Given the description of an element on the screen output the (x, y) to click on. 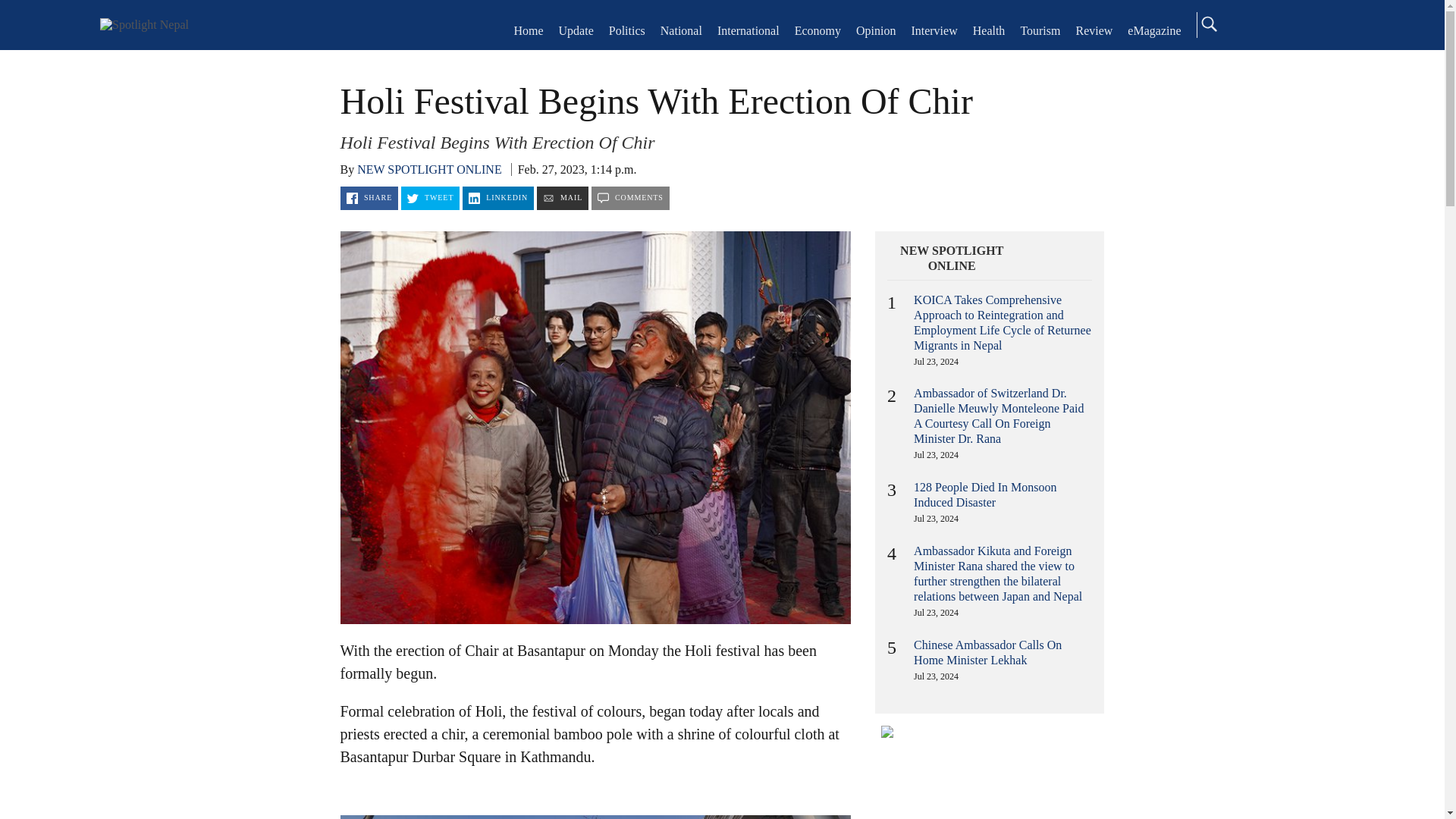
Chinese Ambassador Calls On Home Minister Lekhak (987, 652)
TWEET (430, 197)
Health (989, 30)
MAIL (563, 197)
Search (1208, 24)
Opinion (875, 30)
National (681, 30)
COMMENTS (630, 197)
Economy (817, 30)
Politics (626, 30)
Home (144, 24)
Review (1093, 30)
Email (563, 197)
Comments (630, 197)
